Given the description of an element on the screen output the (x, y) to click on. 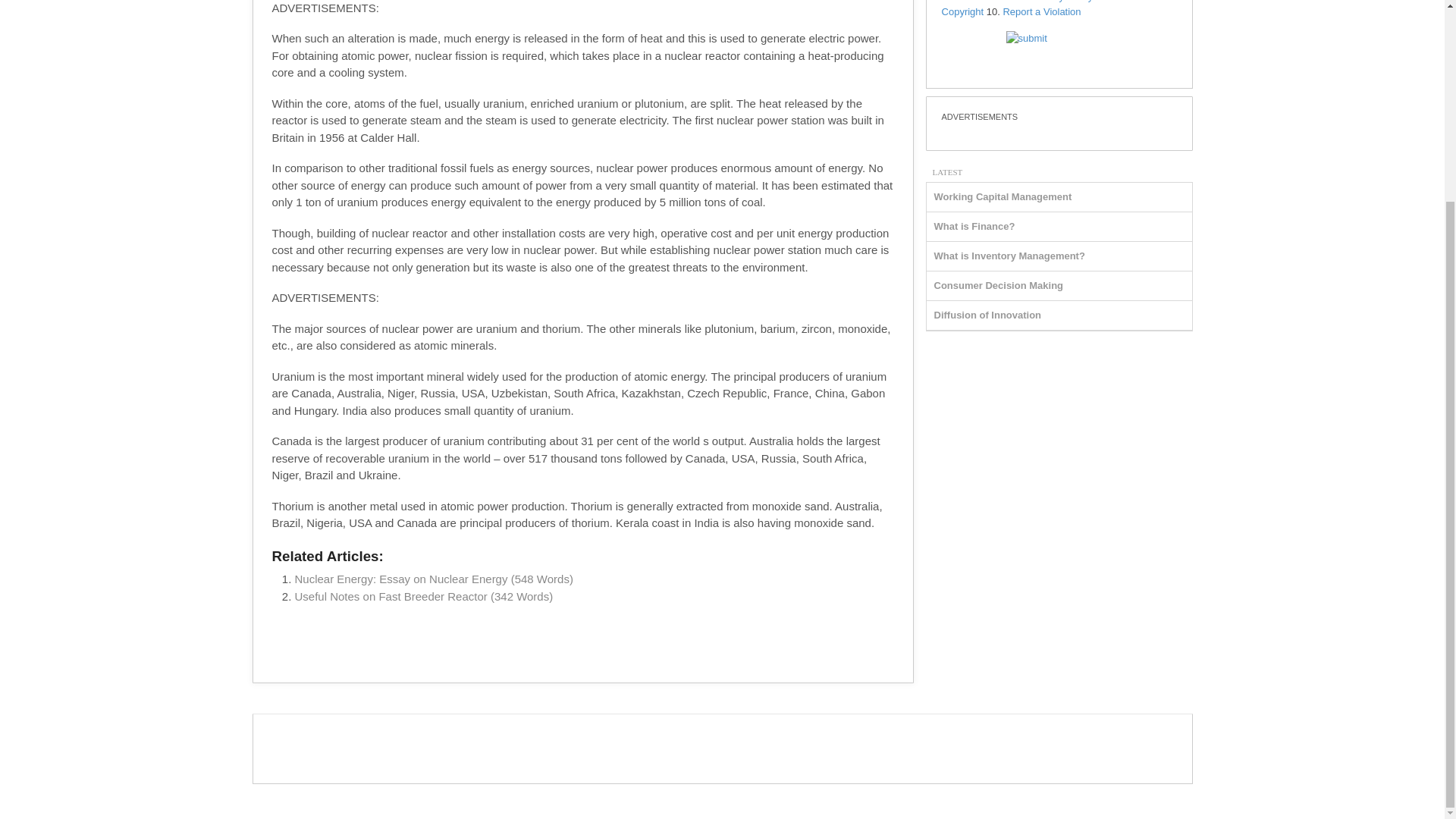
Diffusion of Innovation (988, 315)
What is Inventory Management? (1009, 255)
Consumer Decision Making (998, 285)
Working Capital Management (1002, 196)
Disclaimer (1129, 1)
What is Inventory Management? (1009, 255)
Copyright (963, 11)
Report a Violation (1041, 11)
Privacy Policy (1061, 1)
What is Finance? (974, 225)
